Given the description of an element on the screen output the (x, y) to click on. 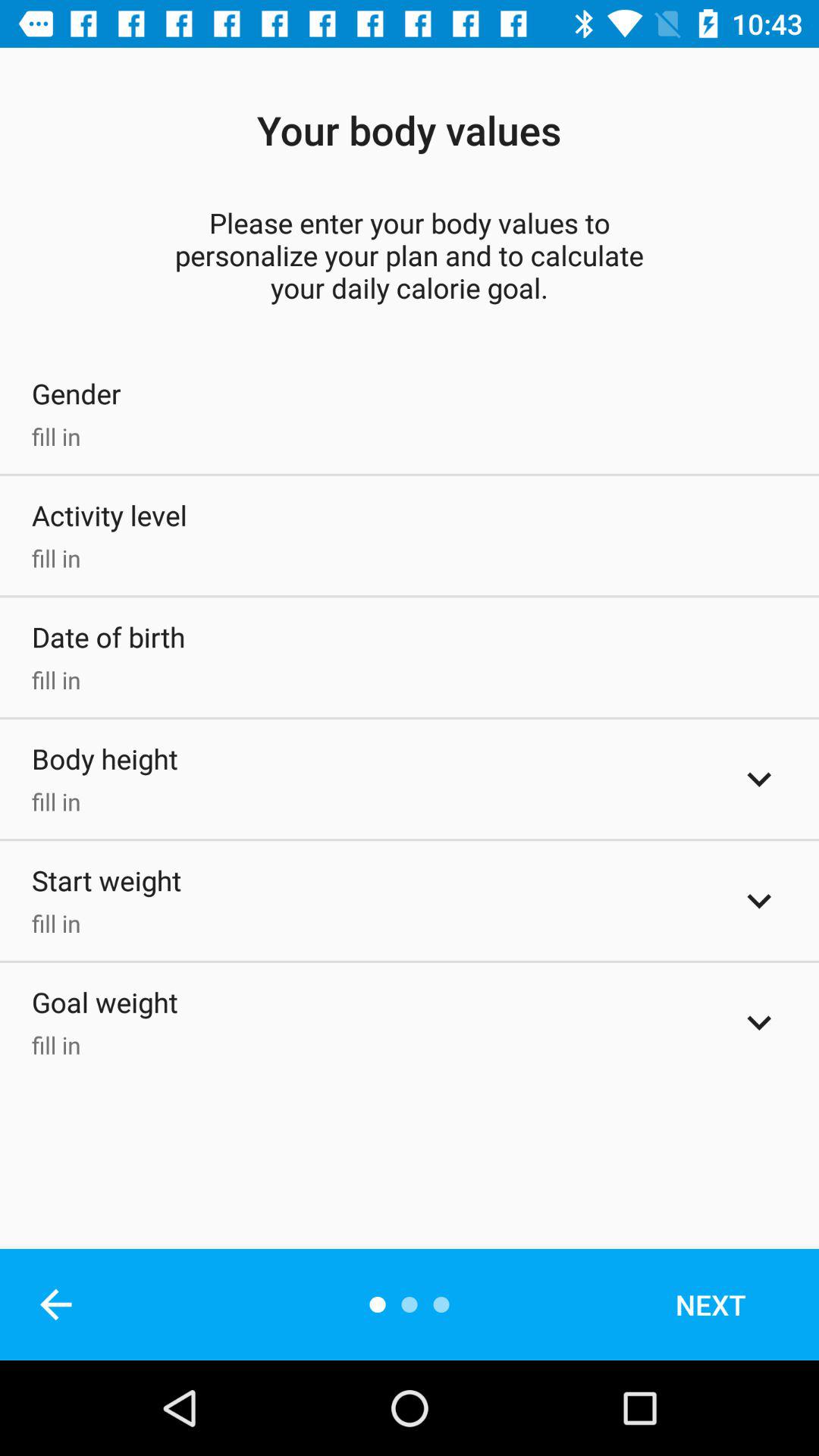
down arrow option (759, 900)
